Given the description of an element on the screen output the (x, y) to click on. 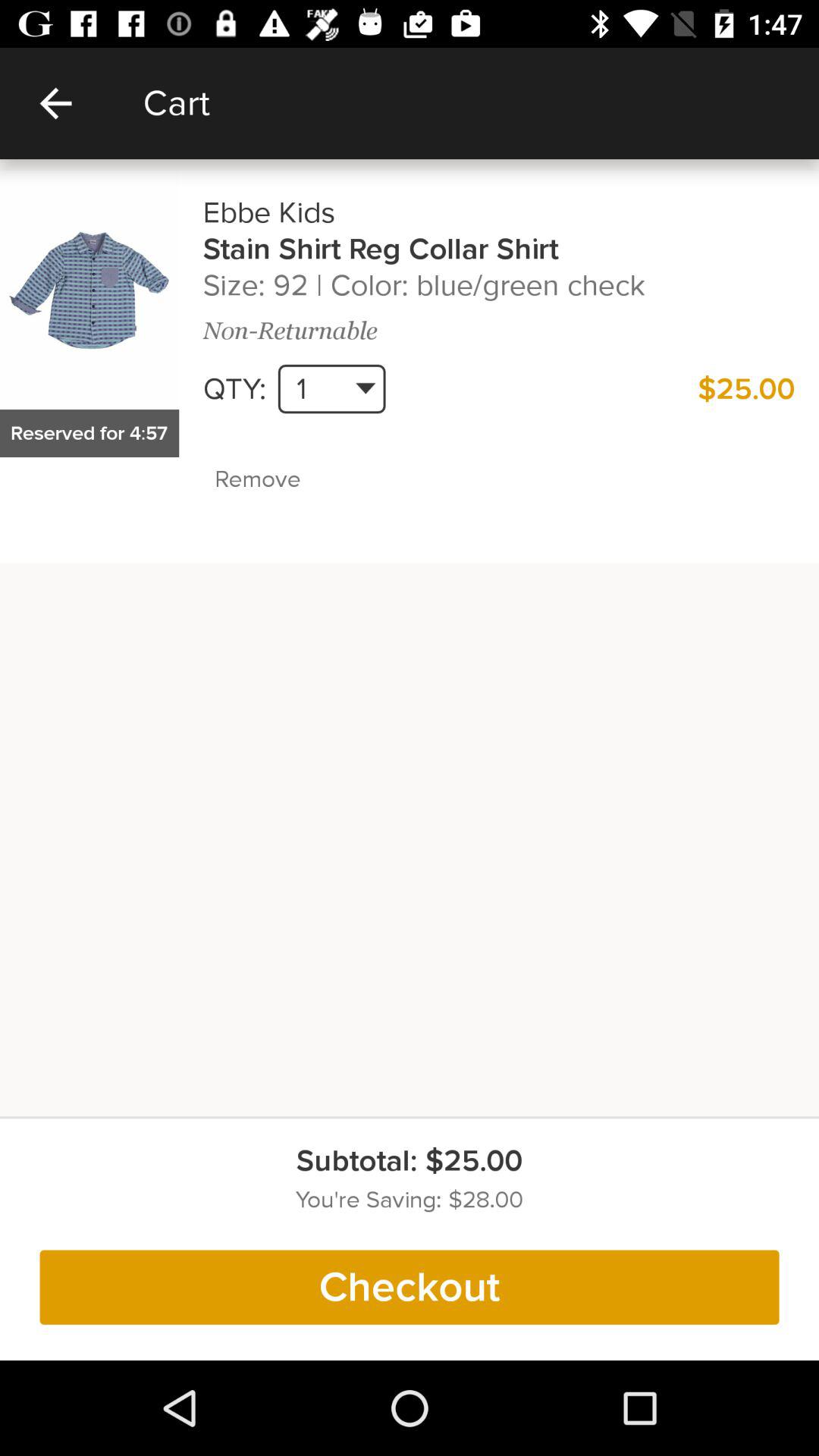
jump to the checkout item (409, 1287)
